Given the description of an element on the screen output the (x, y) to click on. 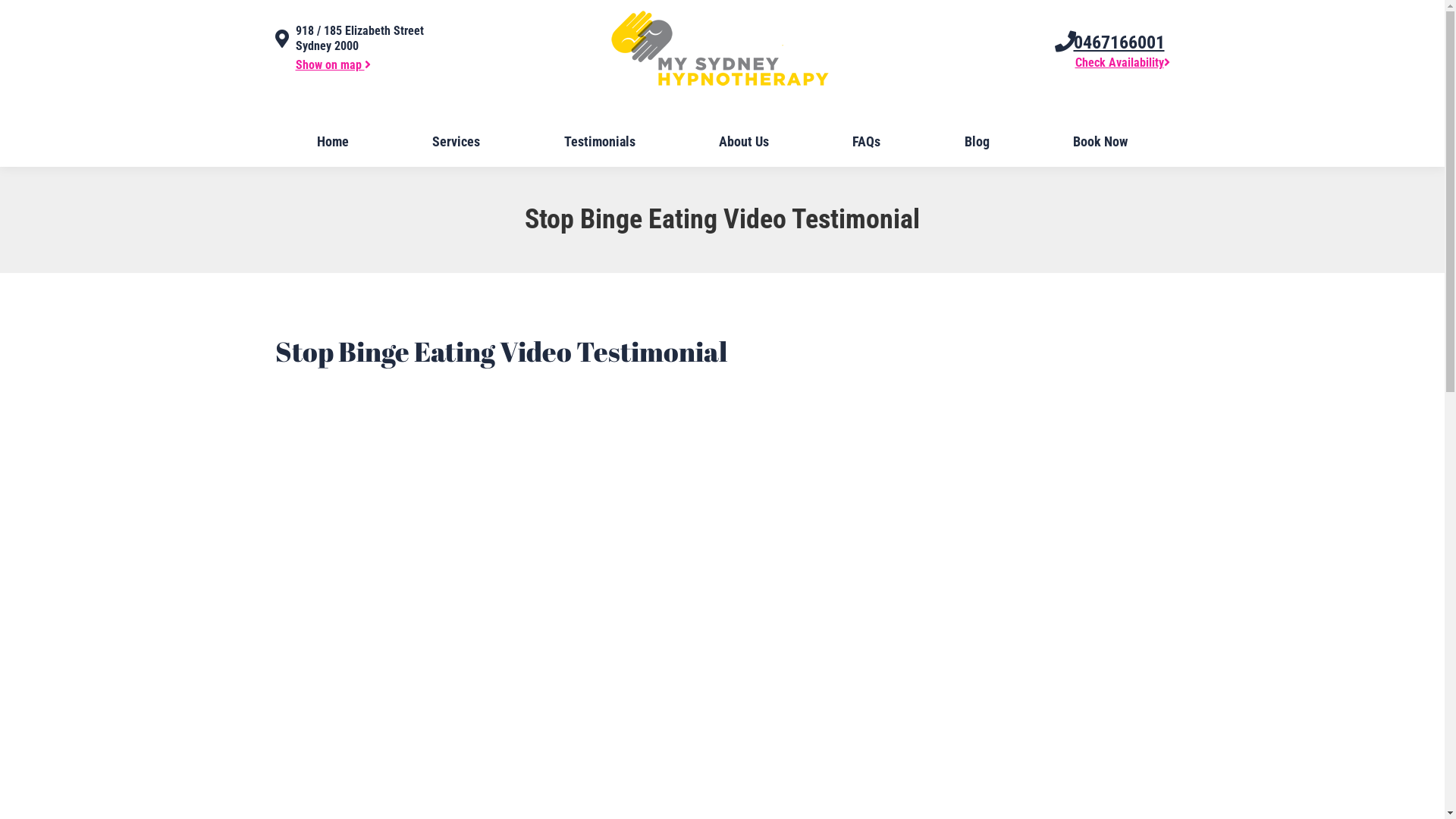
Services Element type: text (456, 141)
Home Element type: text (332, 141)
Terms and Conditions Element type: text (1052, 796)
FAQs Element type: text (866, 141)
Show on map Element type: text (332, 64)
0467166001 Element type: text (1118, 42)
Privacy Policy Element type: text (1140, 796)
Blog Element type: text (976, 141)
Frequently Asked Questions Element type: text (936, 796)
Testimonials Element type: text (598, 141)
About Us Element type: text (743, 141)
Book Now Element type: text (1099, 141)
Check Availability Element type: text (1122, 62)
